Given the description of an element on the screen output the (x, y) to click on. 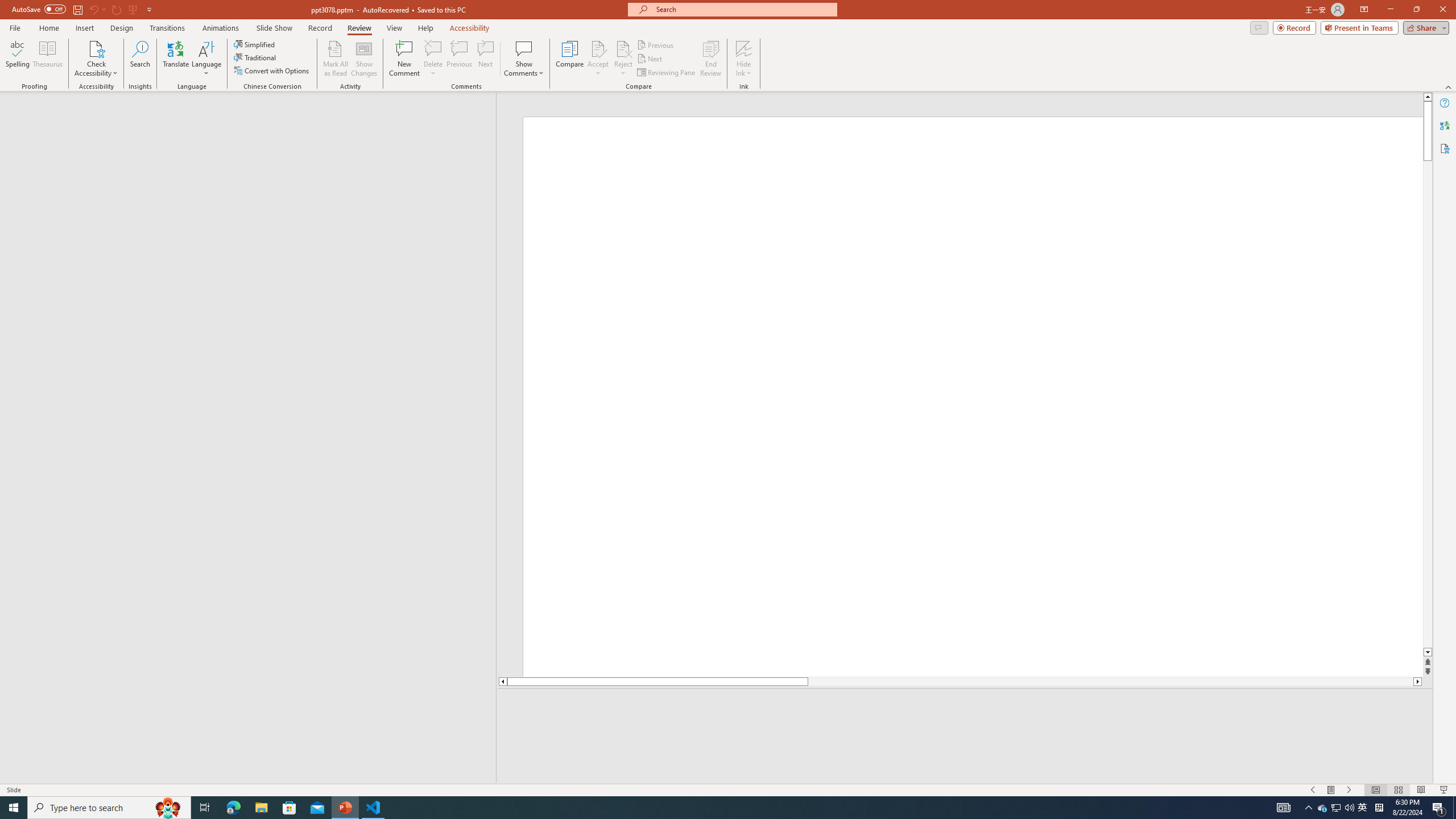
Reject (622, 58)
Thesaurus... (47, 58)
Accept (598, 58)
Next (649, 58)
Convert with Options... (272, 69)
Outline (252, 114)
